Given the description of an element on the screen output the (x, y) to click on. 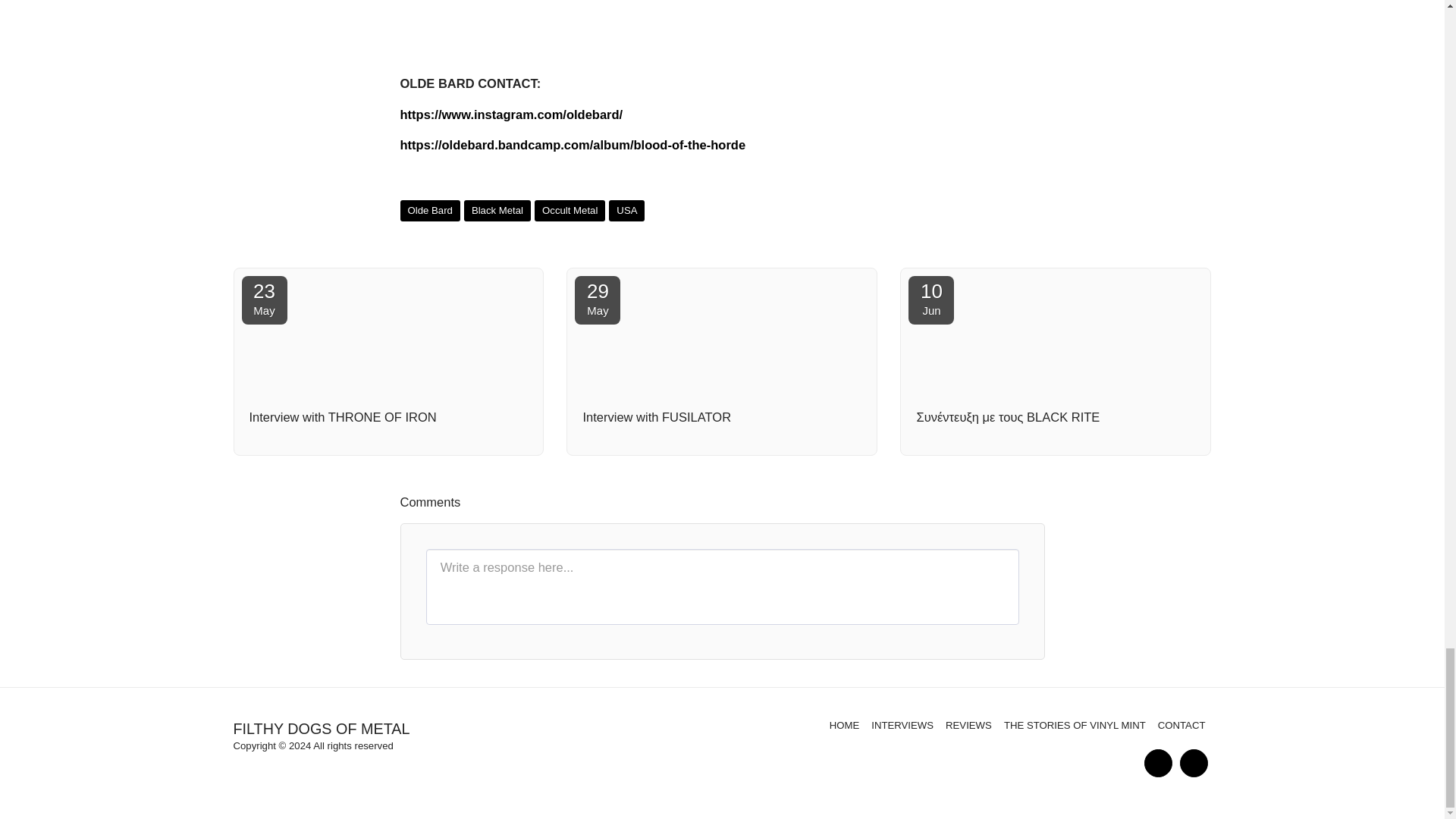
Olde Bard (430, 210)
Tweet (973, 232)
Interview with FUSILATOR (721, 417)
Pin it (1002, 232)
Interview with THRONE OF IRON (263, 300)
Black Metal (387, 417)
